Given the description of an element on the screen output the (x, y) to click on. 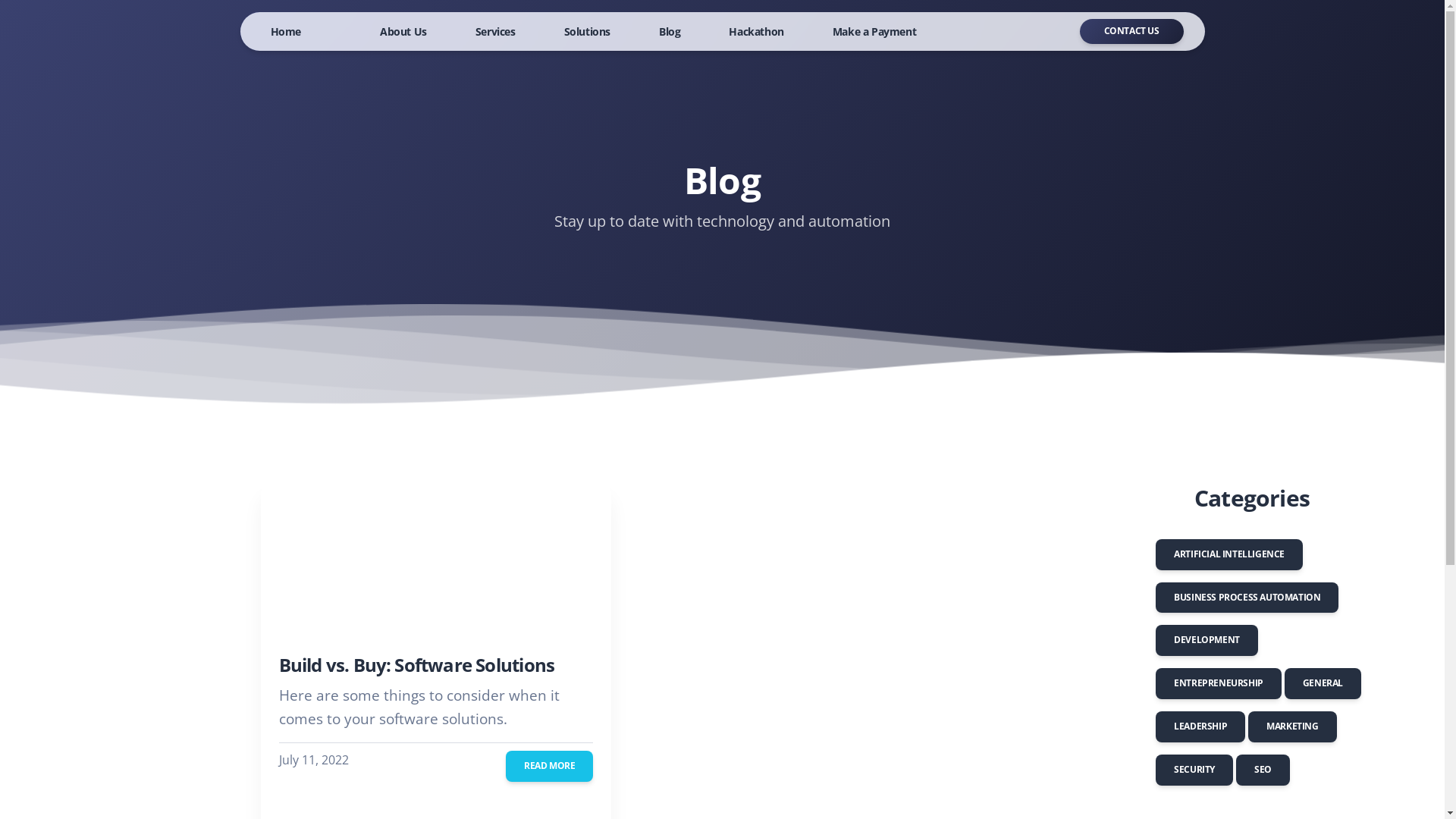
SEO Element type: text (1262, 769)
DEVELOPMENT Element type: text (1206, 639)
BUSINESS PROCESS AUTOMATION Element type: text (1246, 597)
About Us Element type: text (396, 31)
Services Element type: text (489, 31)
CONTACT US Element type: text (1131, 30)
SECURITY Element type: text (1194, 769)
ARTIFICIAL INTELLIGENCE Element type: text (1228, 554)
Solutions Element type: text (581, 31)
Home Element type: text (284, 31)
ENTREPRENEURSHIP Element type: text (1218, 683)
GENERAL Element type: text (1322, 683)
MARKETING Element type: text (1292, 726)
Hackathon Element type: text (749, 31)
LEADERSHIP Element type: text (1200, 726)
Make a Payment Element type: text (868, 31)
READ MORE Element type: text (549, 765)
Blog Element type: text (663, 31)
